Given the description of an element on the screen output the (x, y) to click on. 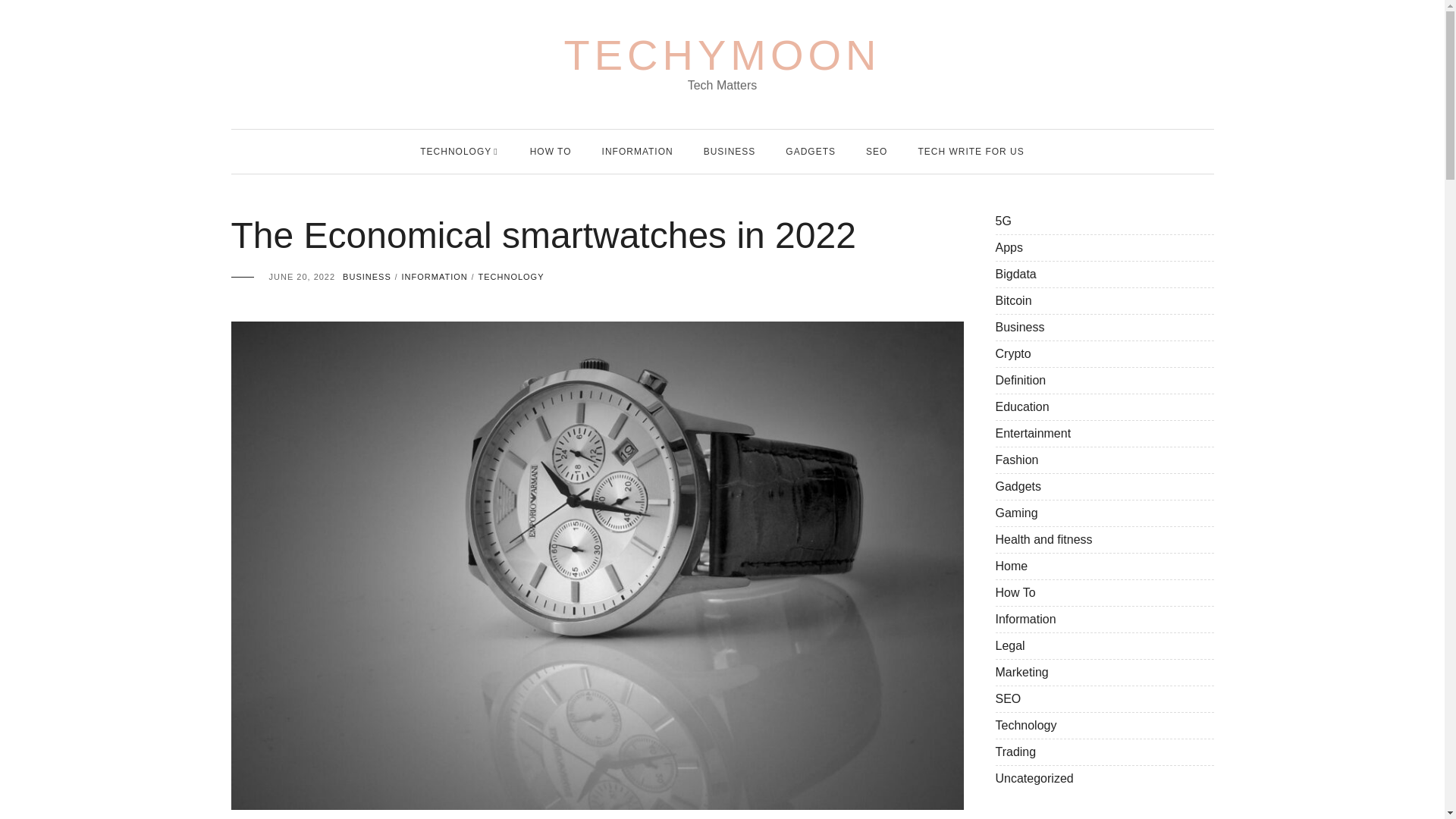
INFORMATION (637, 151)
INFORMATION (434, 276)
TECHYMOON (722, 55)
HOW TO (550, 151)
BUSINESS (366, 276)
TECH WRITE FOR US (970, 151)
TECHNOLOGY (510, 276)
BUSINESS (729, 151)
TECHNOLOGY (456, 151)
GADGETS (810, 151)
